Given the description of an element on the screen output the (x, y) to click on. 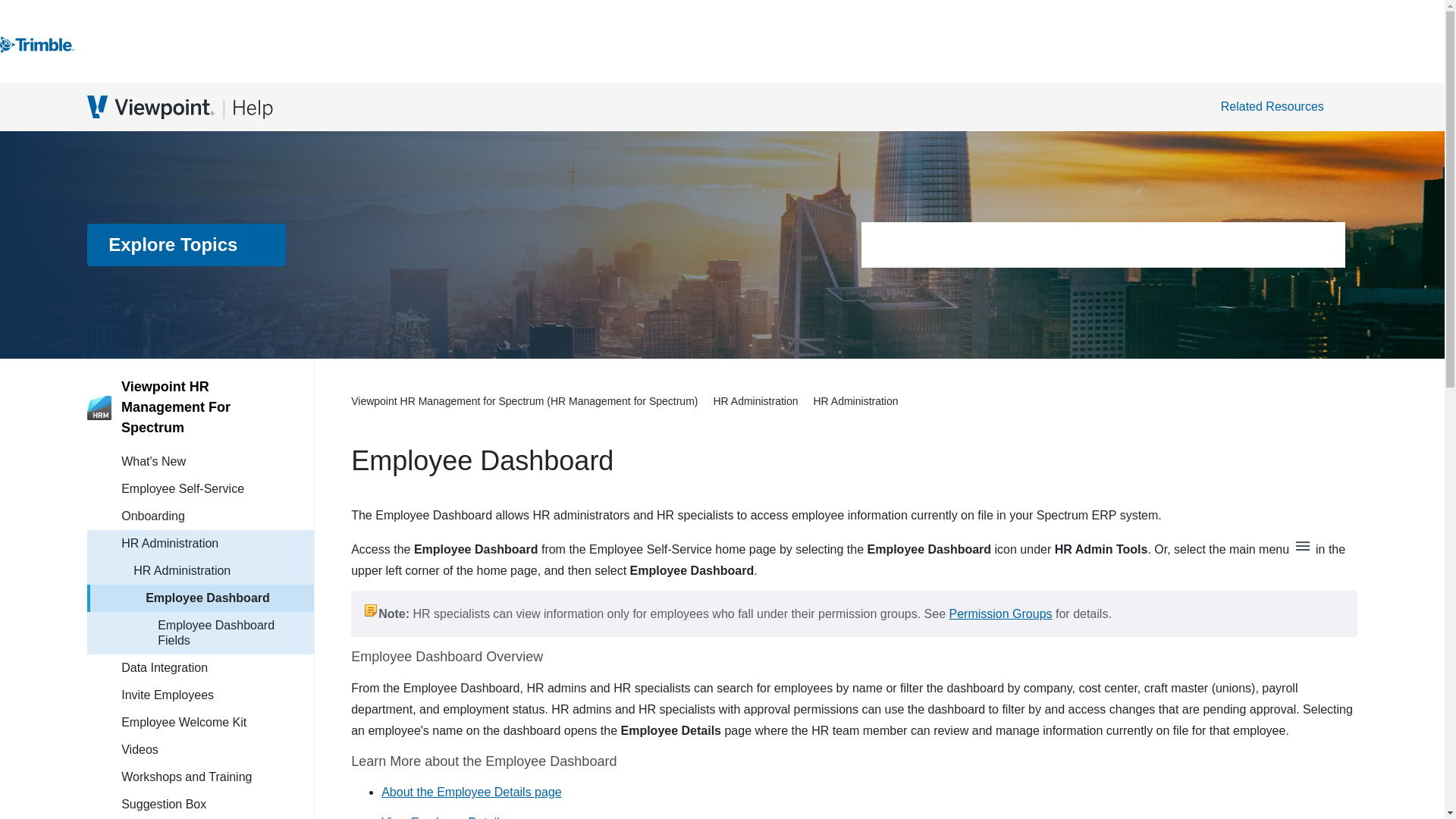
Related Resources (1279, 106)
Explore Topics (186, 244)
Employee Self-Service (217, 488)
What's New (217, 461)
